Given the description of an element on the screen output the (x, y) to click on. 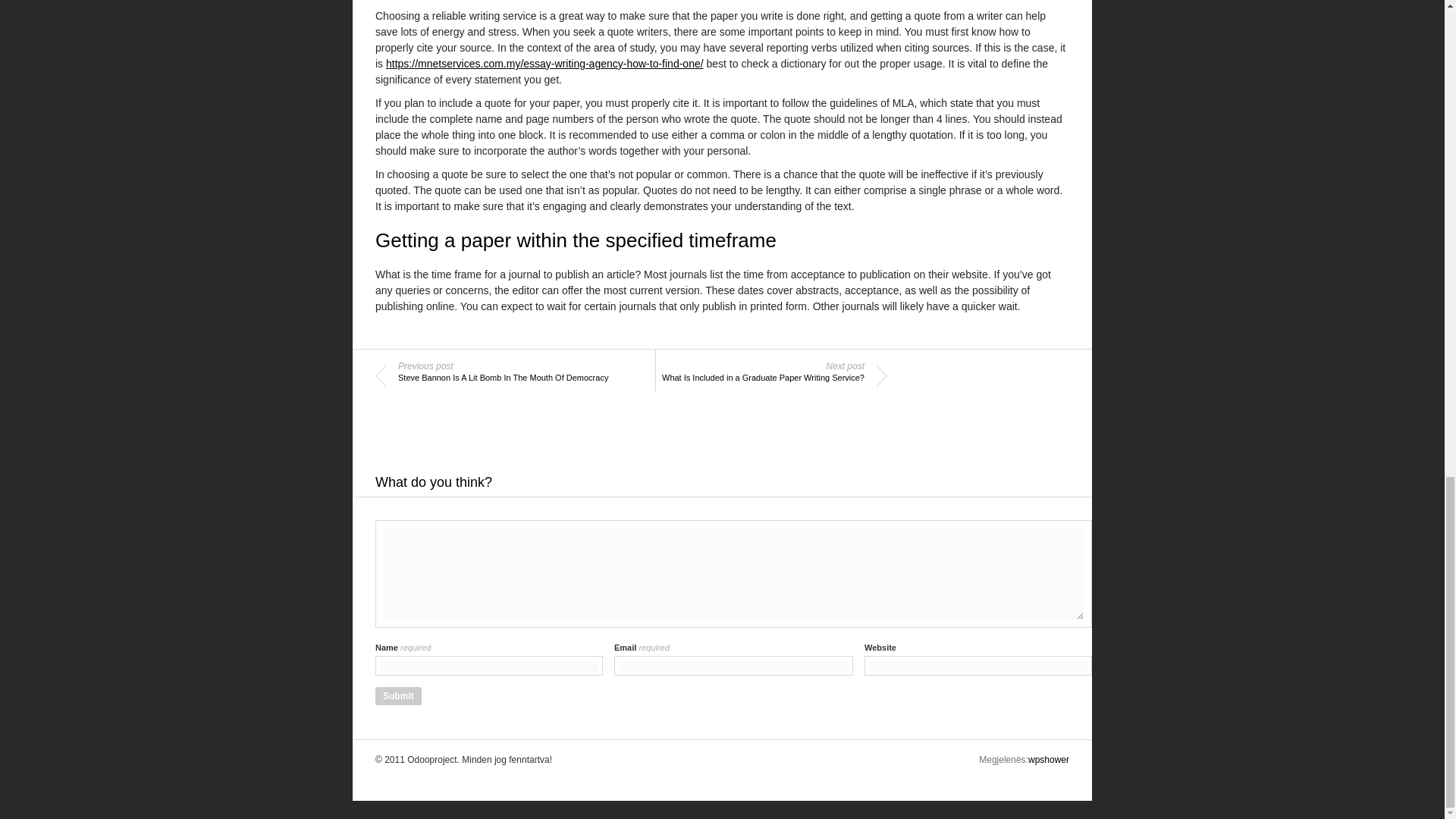
Submit (398, 696)
wpshower (1047, 759)
Submit (398, 696)
